Given the description of an element on the screen output the (x, y) to click on. 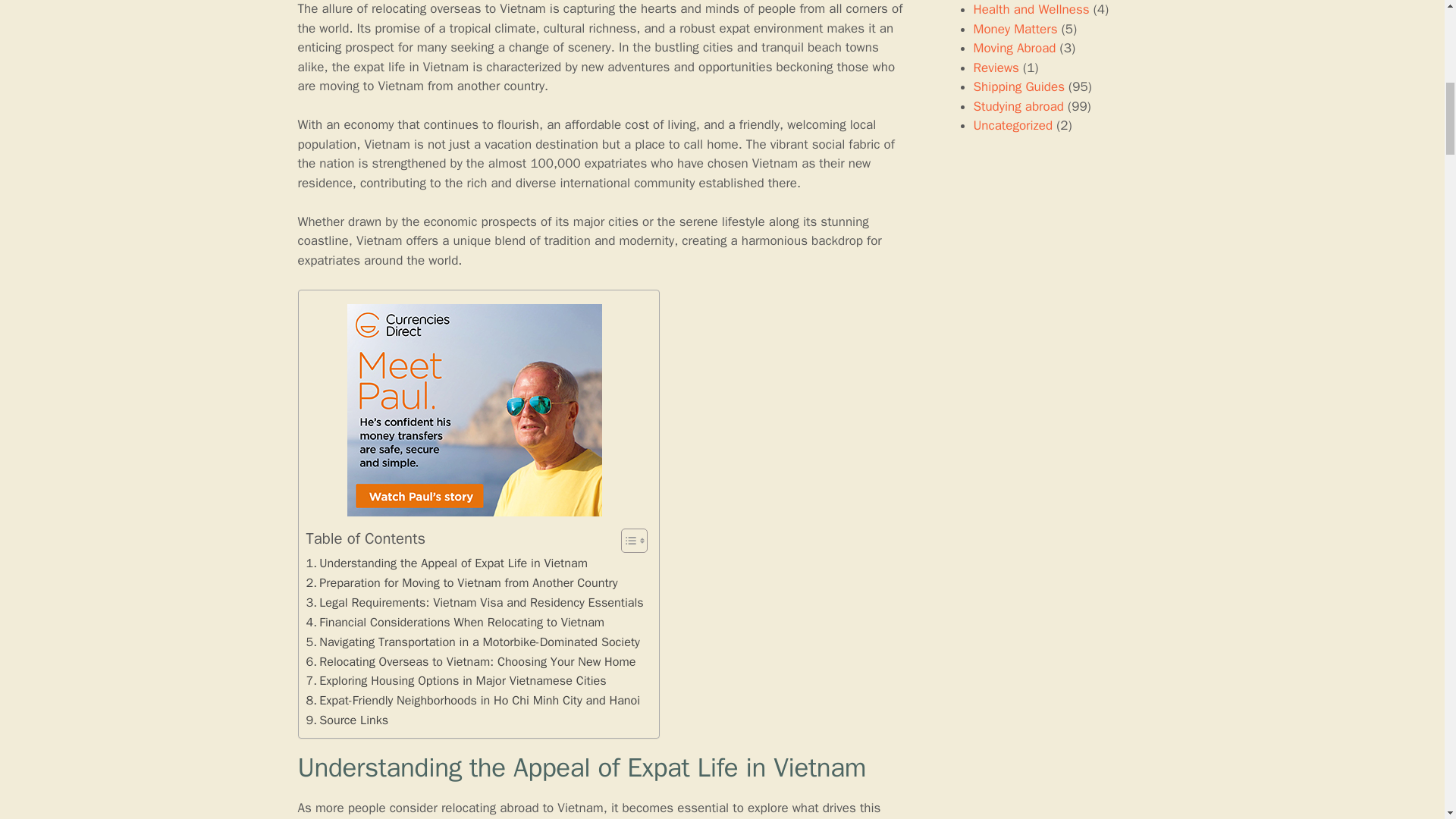
Exploring Housing Options in Major Vietnamese Cities (456, 680)
Expat-Friendly Neighborhoods in Ho Chi Minh City and Hanoi (472, 700)
Understanding the Appeal of Expat Life in Vietnam (446, 563)
Legal Requirements: Vietnam Visa and Residency Essentials (474, 602)
Navigating Transportation in a Motorbike-Dominated Society (472, 641)
Source Links (346, 720)
Relocating Overseas to Vietnam: Choosing Your New Home (470, 661)
Preparation for Moving to Vietnam from Another Country (461, 582)
Financial Considerations When Relocating to Vietnam (455, 622)
